Given the description of an element on the screen output the (x, y) to click on. 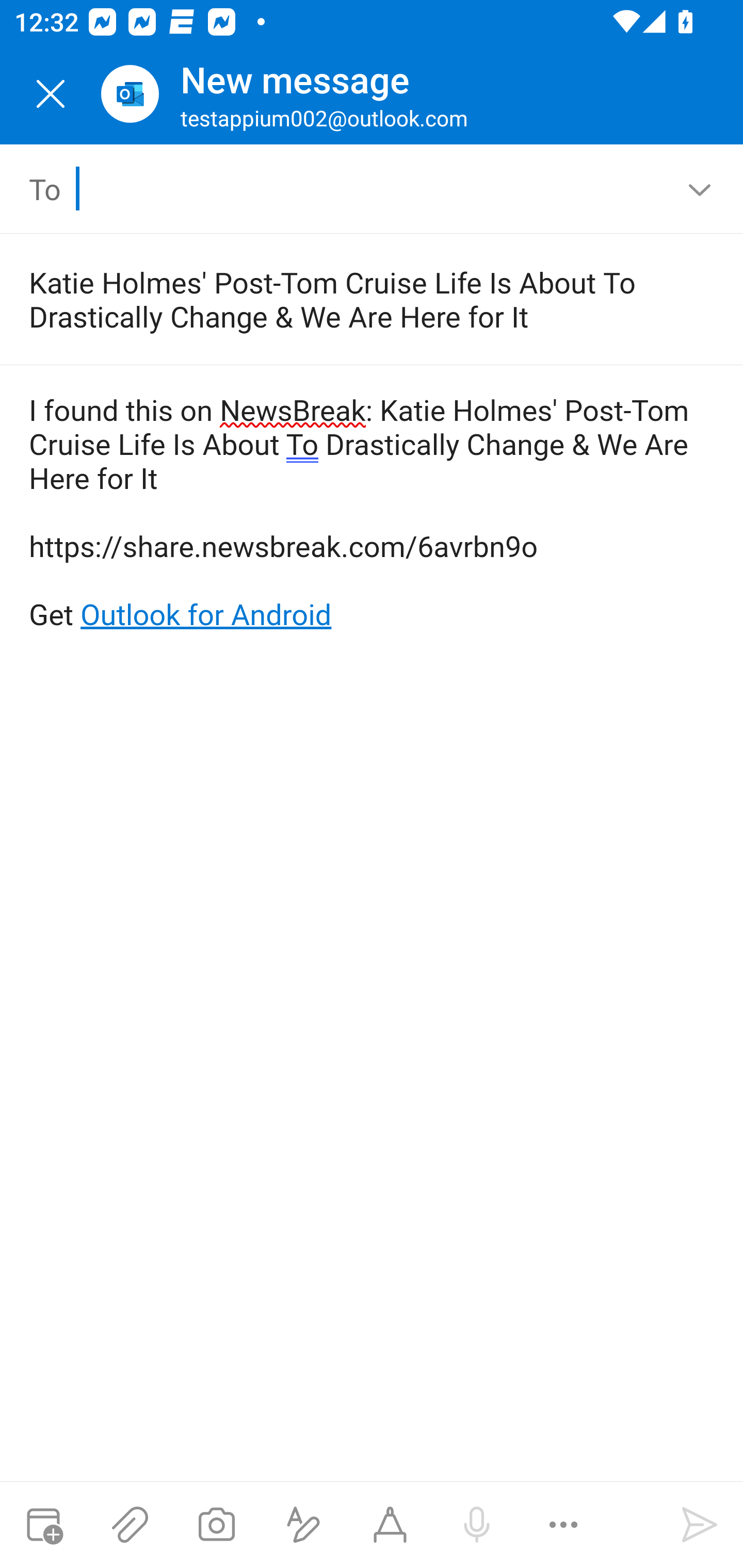
Close (50, 93)
Attach meeting (43, 1524)
Attach files (129, 1524)
Take a photo (216, 1524)
Show formatting options (303, 1524)
Start Ink compose (389, 1524)
More options (563, 1524)
Send (699, 1524)
